Given the description of an element on the screen output the (x, y) to click on. 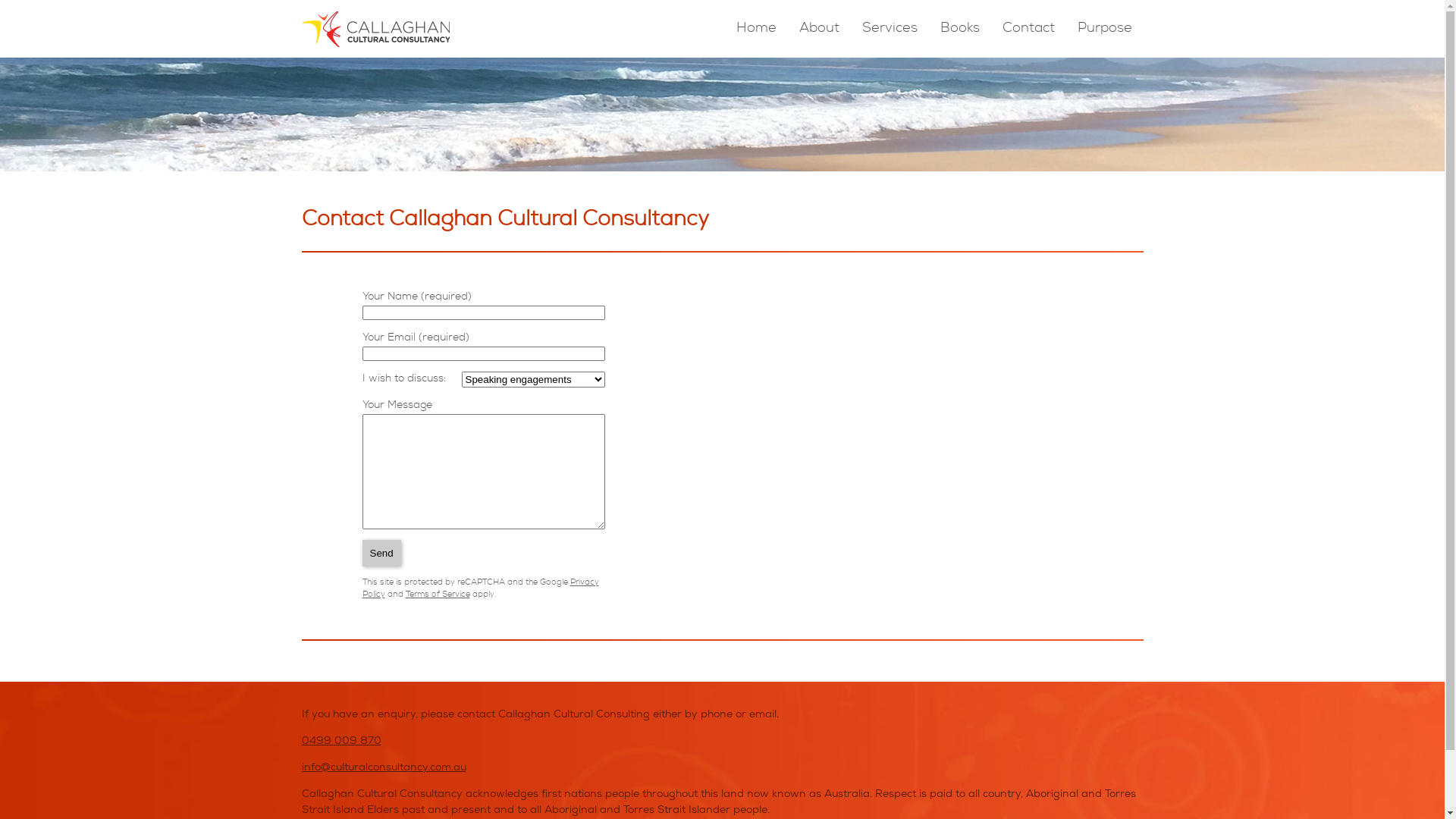
Privacy Policy Element type: text (480, 588)
Home Element type: text (755, 28)
info@culturalconsultancy.com.au Element type: text (383, 767)
0499 009 870 Element type: text (341, 740)
Purpose Element type: text (1103, 28)
Books Element type: text (959, 28)
Send Element type: text (381, 552)
Terms of Service Element type: text (436, 594)
About Element type: text (819, 28)
Contact Element type: text (1028, 28)
Services Element type: text (888, 28)
